Given the description of an element on the screen output the (x, y) to click on. 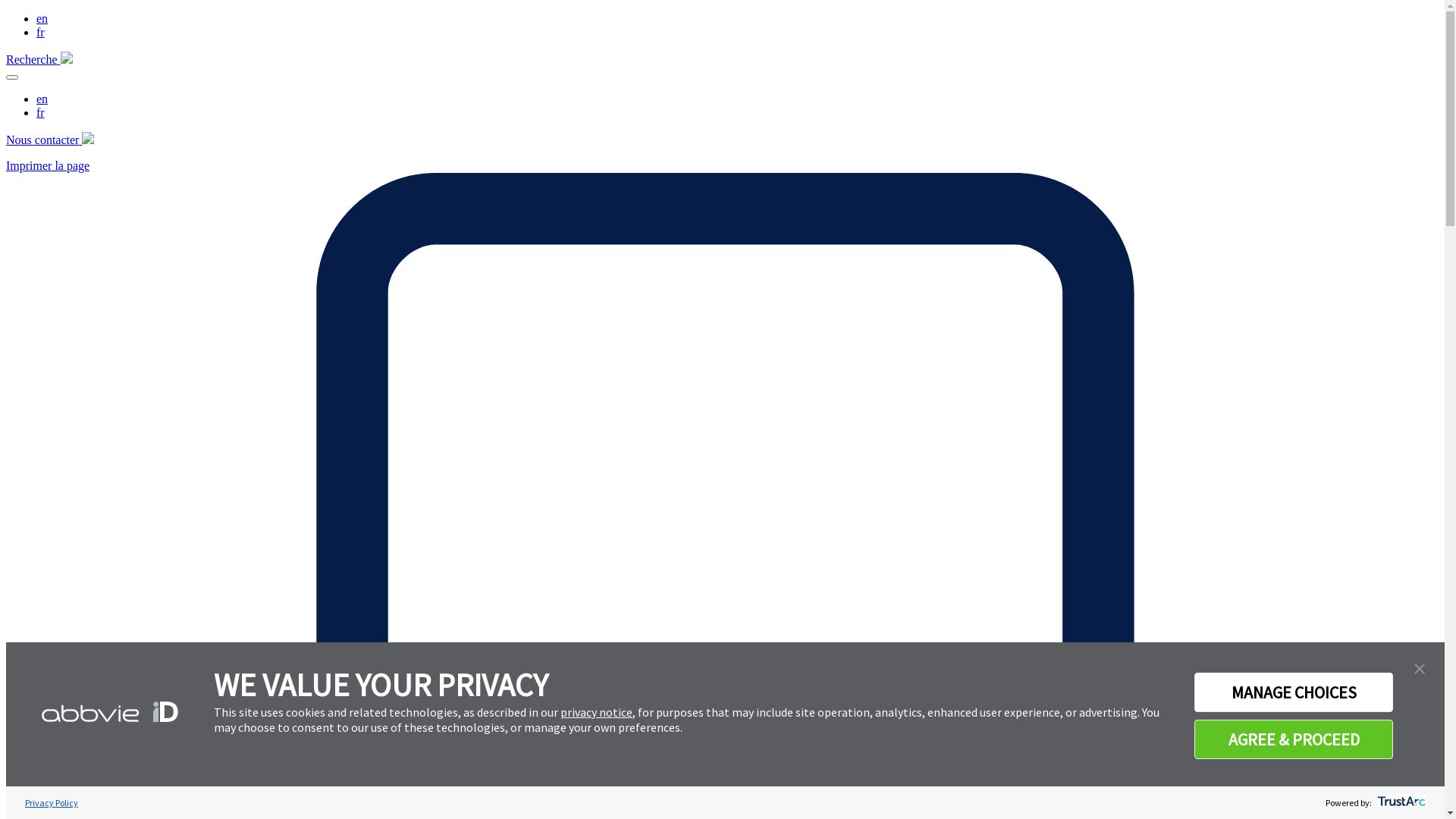
fr Element type: text (40, 112)
fr Element type: text (40, 31)
AGREE & PROCEED Element type: text (1293, 739)
MANAGE CHOICES Element type: text (1293, 692)
Privacy Policy Element type: text (51, 802)
Aller au contenu principal Element type: text (6, 12)
en Element type: text (41, 18)
privacy notice Element type: text (596, 711)
Recherche Element type: text (39, 59)
Nous contacter Element type: text (50, 139)
en Element type: text (41, 98)
